Given the description of an element on the screen output the (x, y) to click on. 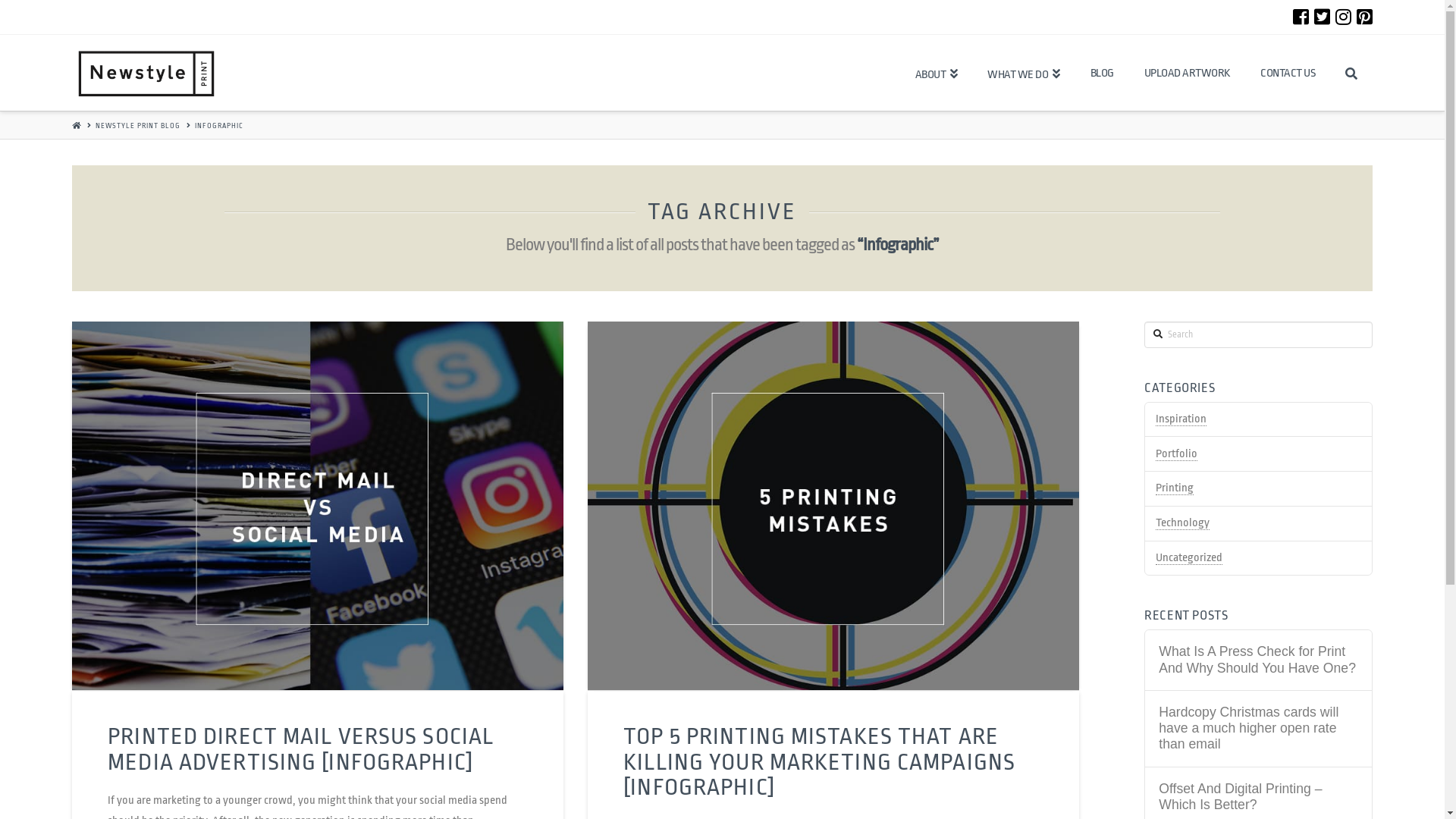
Inspiration Element type: text (1180, 419)
Portfolio Element type: text (1176, 454)
Twitter Element type: hover (1322, 16)
Facebook Element type: hover (1300, 16)
INFOGRAPHIC Element type: text (218, 124)
WHAT WE DO Element type: text (1023, 72)
Pinterest Element type: hover (1364, 16)
Uncategorized Element type: text (1188, 557)
BLOG Element type: text (1102, 72)
Printing Element type: text (1174, 488)
ABOUT Element type: text (936, 72)
NEWSTYLE PRINT BLOG Element type: text (137, 124)
Instagram Element type: hover (1343, 16)
UPLOAD ARTWORK Element type: text (1187, 72)
CONTACT US Element type: text (1287, 72)
Technology Element type: text (1182, 523)
What Is A Press Check for Print And Why Should You Have One? Element type: text (1257, 659)
